Given the description of an element on the screen output the (x, y) to click on. 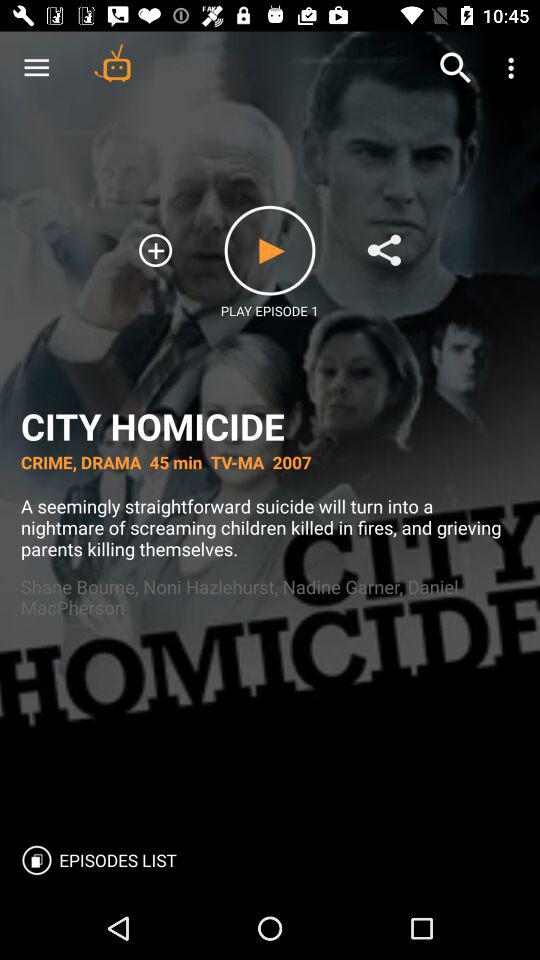
tap to play (269, 250)
